Given the description of an element on the screen output the (x, y) to click on. 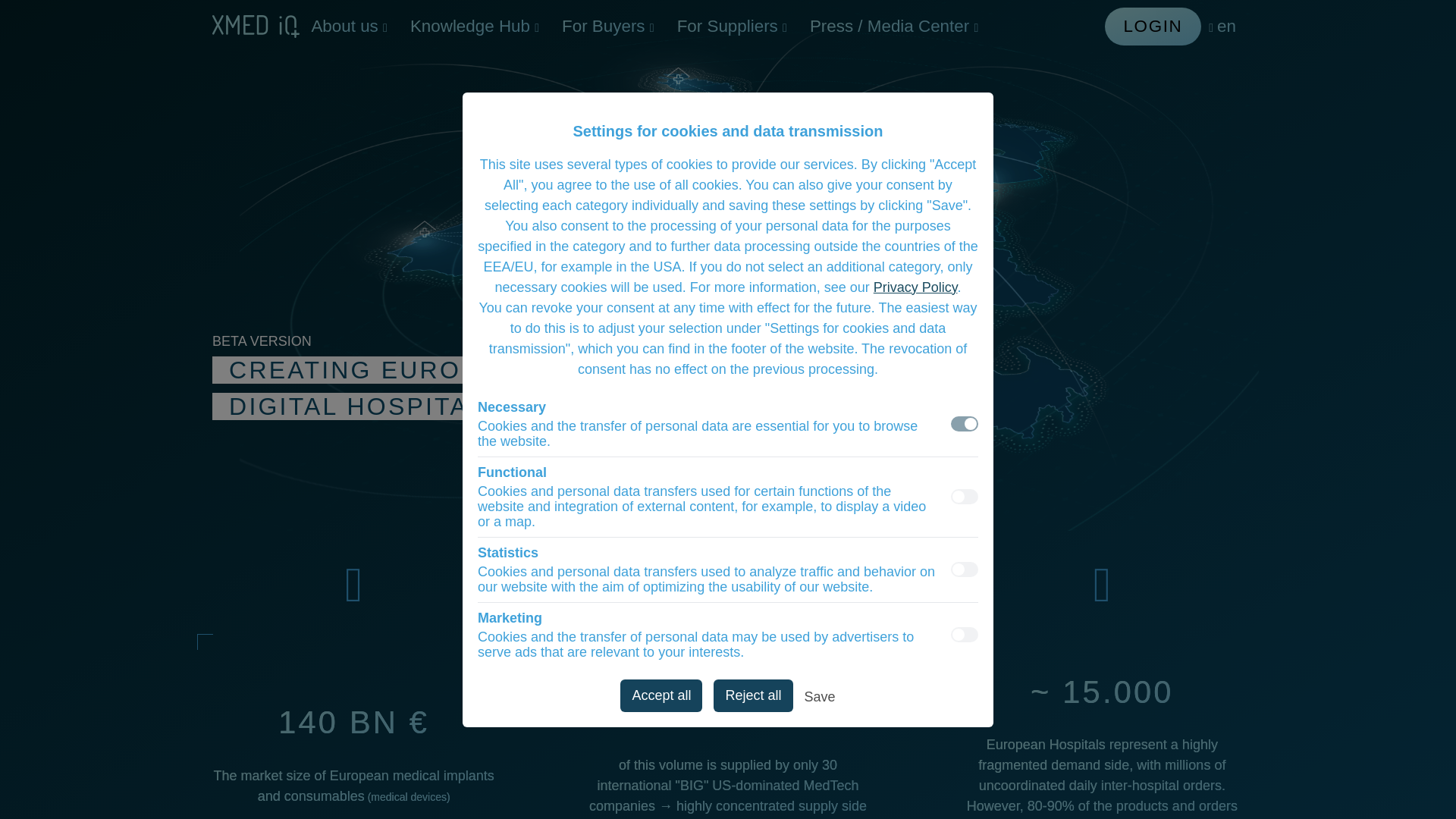
on (964, 634)
Privacy Policy (915, 286)
For Buyers (607, 26)
For Suppliers (731, 26)
on (964, 423)
About us (348, 26)
Reject all (752, 695)
Knowledge Hub (474, 26)
Accept all (660, 695)
LOGIN (1153, 26)
